Given the description of an element on the screen output the (x, y) to click on. 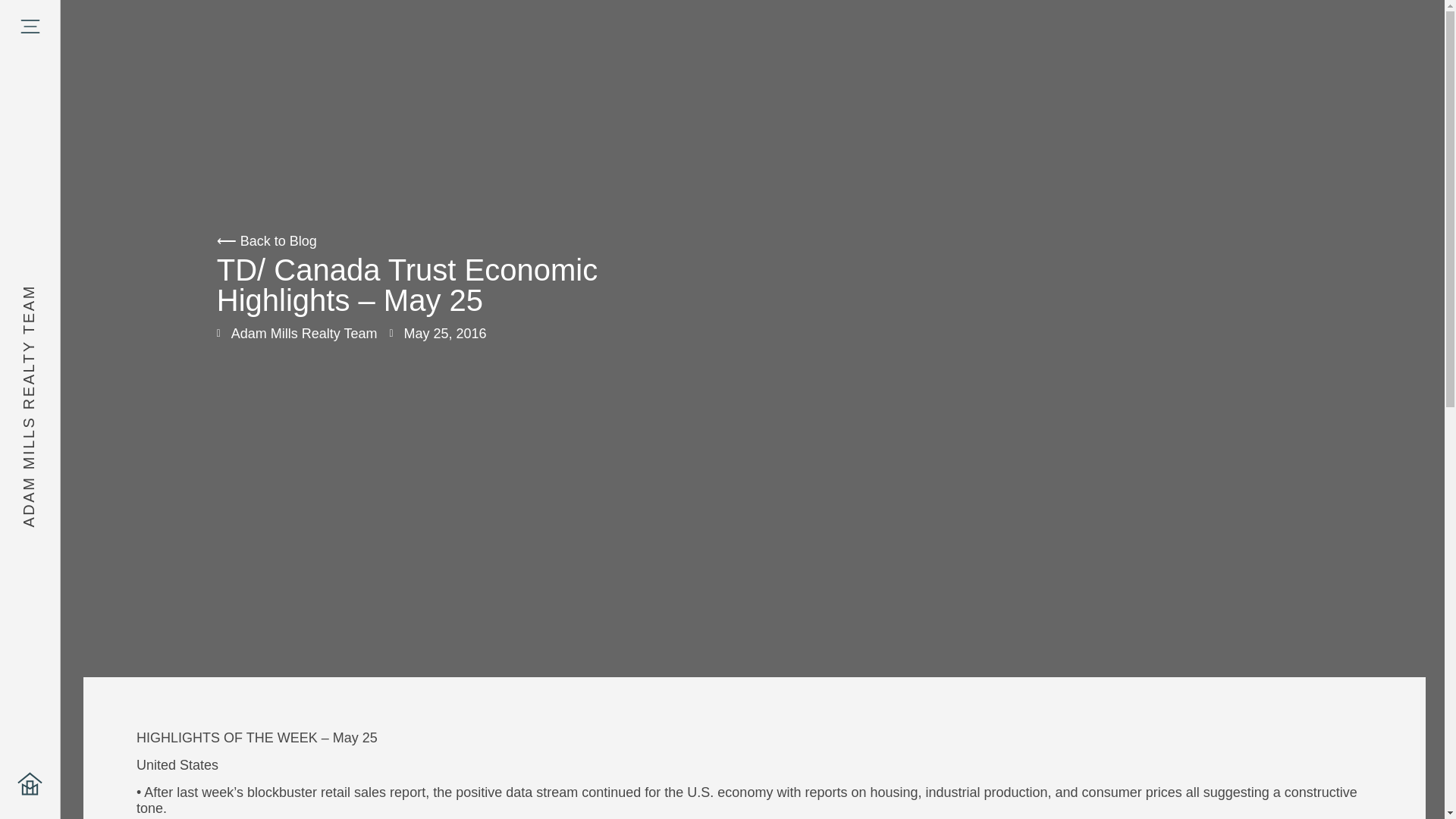
May 25, 2016 (437, 333)
Adam Mills Realty Team (296, 333)
